Given the description of an element on the screen output the (x, y) to click on. 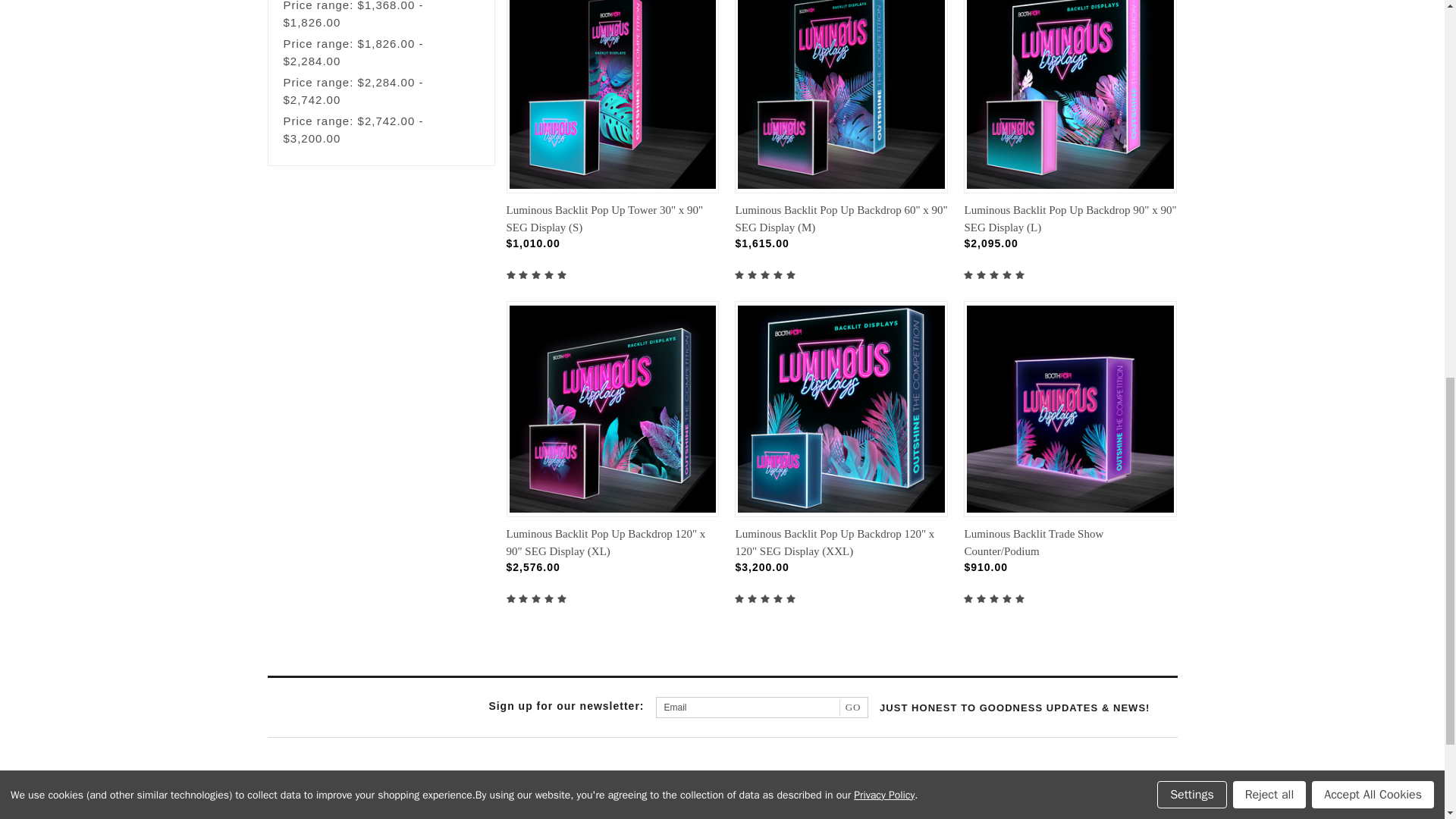
GO (853, 707)
